Given the description of an element on the screen output the (x, y) to click on. 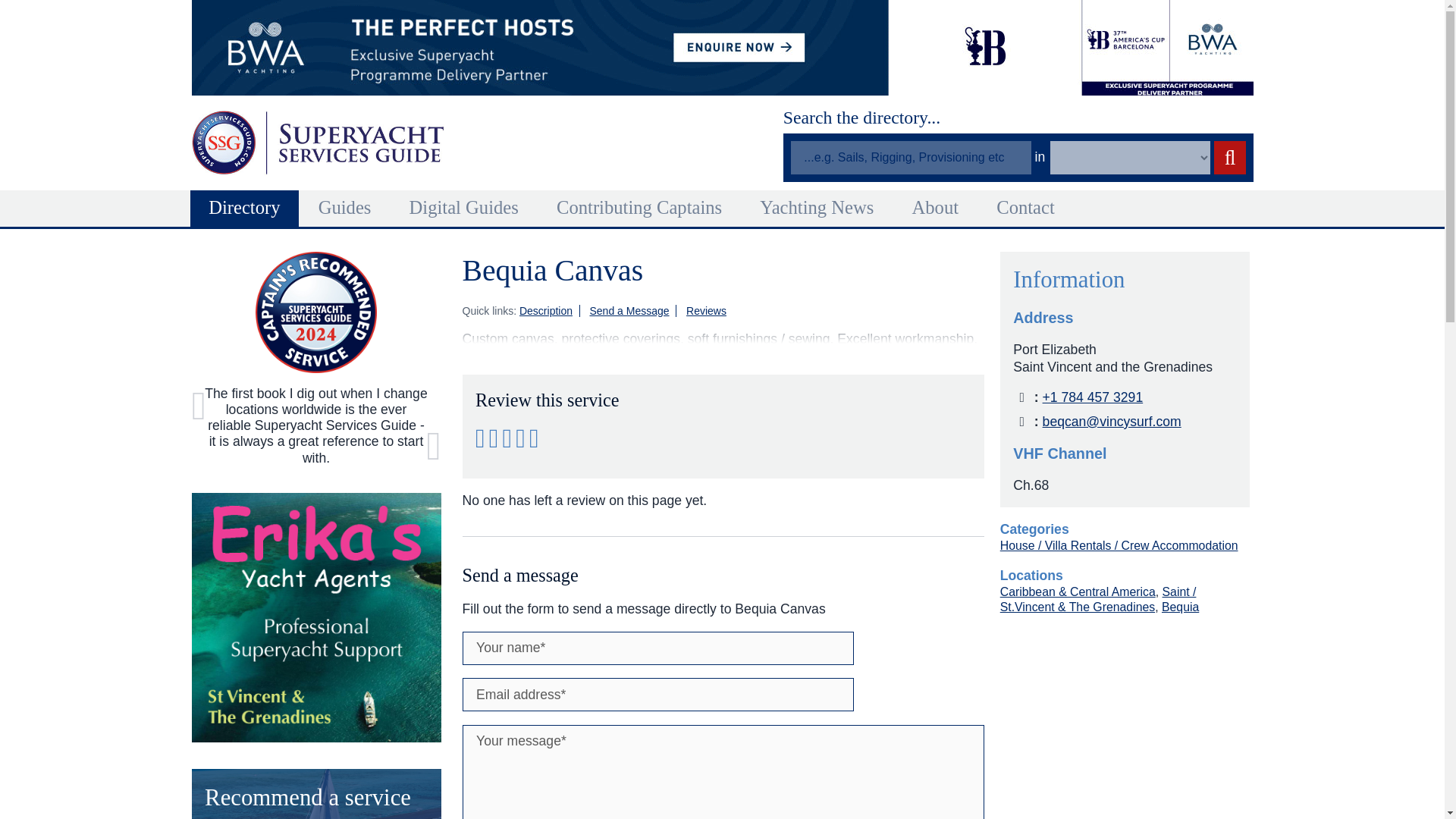
Search the guide (1229, 157)
Directory (243, 208)
Digital Guides (463, 208)
Contributing Captains (638, 208)
Guides (344, 208)
Guides (344, 208)
Yachting News (816, 208)
Directory (243, 208)
